Given the description of an element on the screen output the (x, y) to click on. 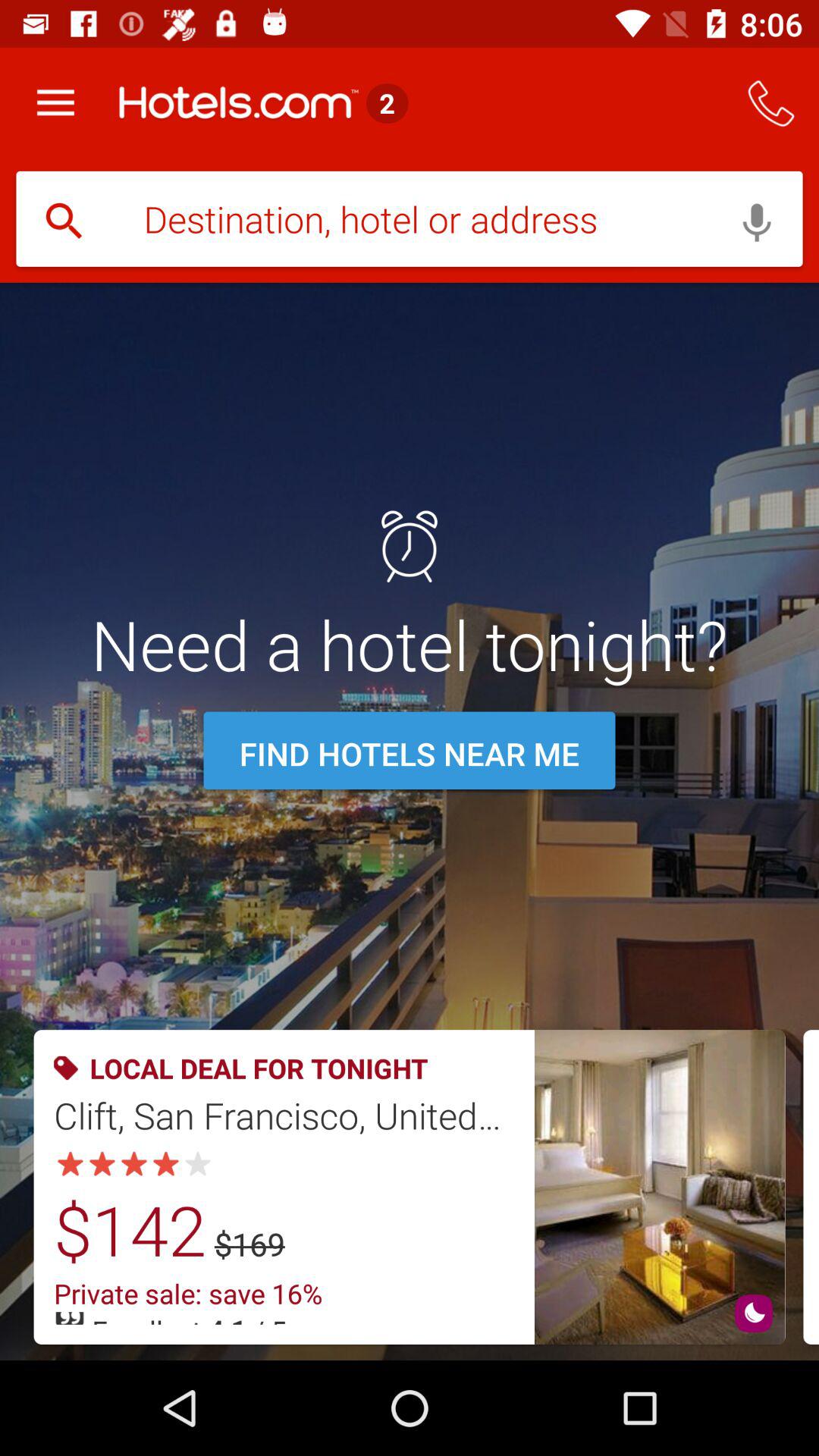
launch icon to the right of the 2 (771, 103)
